Given the description of an element on the screen output the (x, y) to click on. 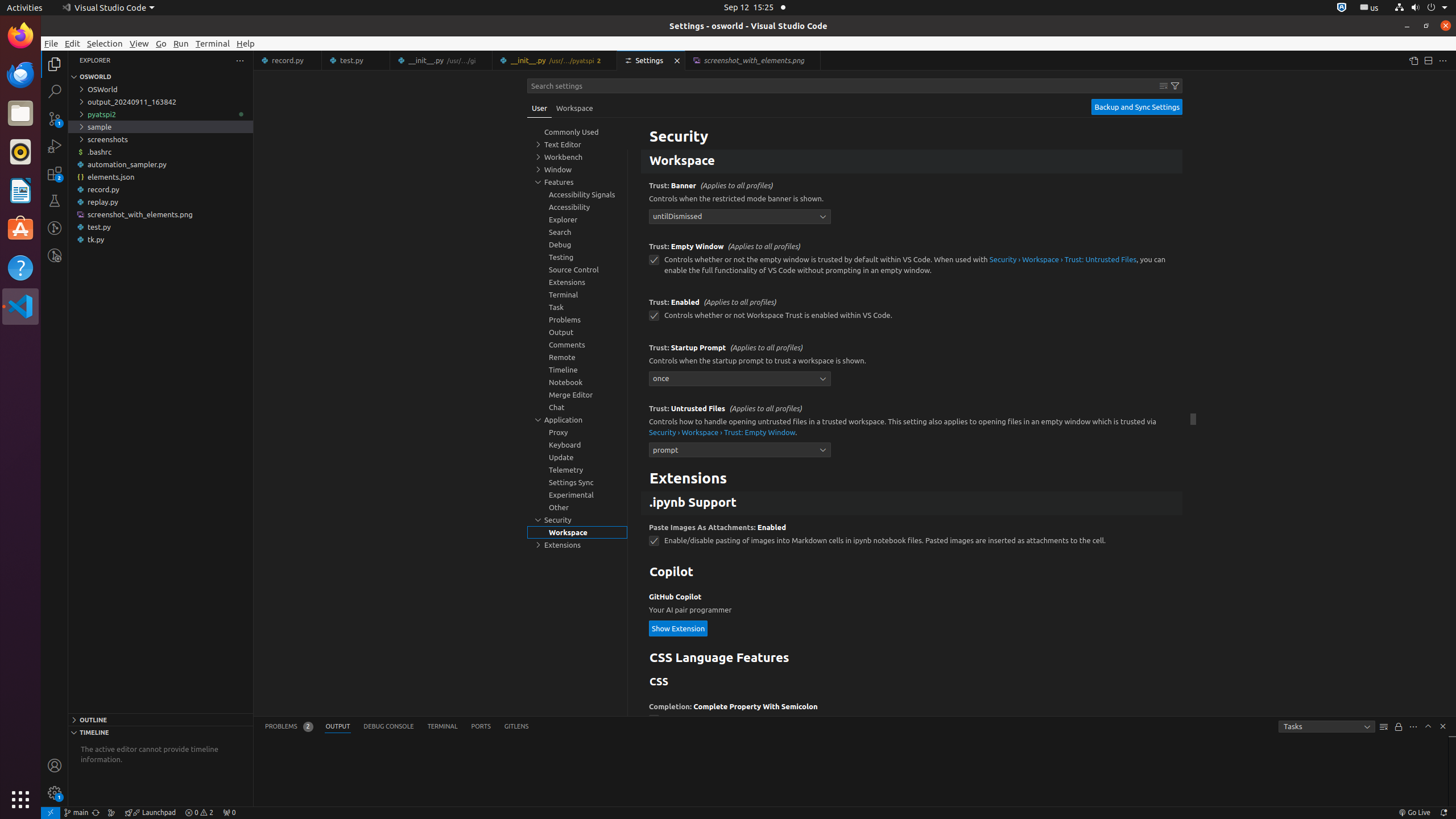
Workspace Element type: tree-item (911, 161)
CSS Element type: tree-item (911, 682)
Timeline Section Element type: push-button (160, 731)
Source Control (Ctrl+Shift+G G) - 1 pending changes Source Control (Ctrl+Shift+G G) - 1 pending changes Element type: page-tab (54, 118)
